Given the description of an element on the screen output the (x, y) to click on. 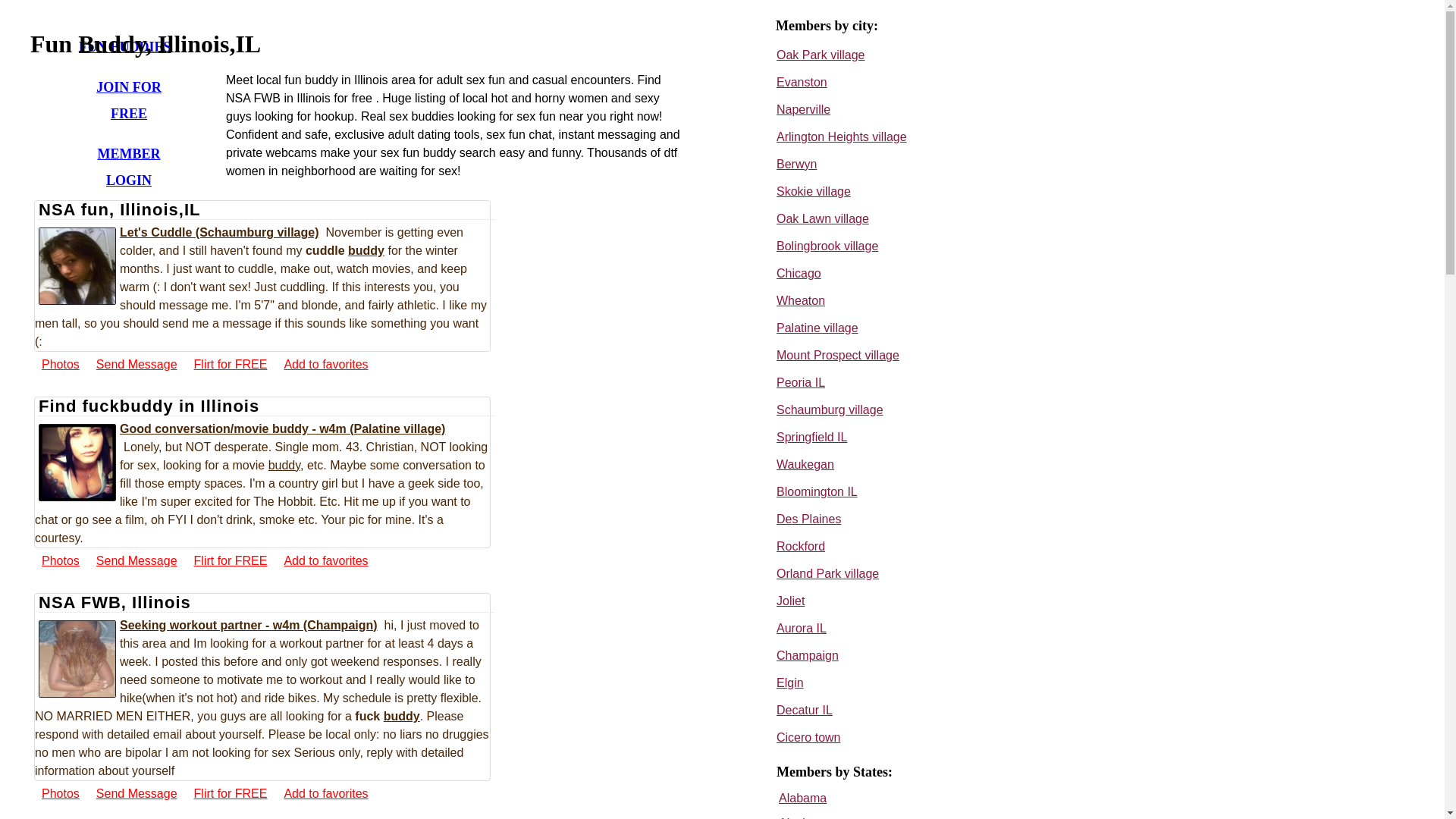
Flirt for FREE (230, 363)
Add to favorites (325, 560)
Photos (59, 792)
Add to favorites (325, 792)
Photos (59, 363)
Send Message (136, 363)
cuddle buddy Illinois (77, 658)
Send Message (136, 792)
Send Message (136, 560)
Flirt for FREE (230, 792)
Photos (59, 560)
cuddy buddy Illinois (77, 265)
FUN BUDDIES (124, 47)
JOIN FOR FREE (128, 100)
Flirt for FREE (230, 560)
